Given the description of an element on the screen output the (x, y) to click on. 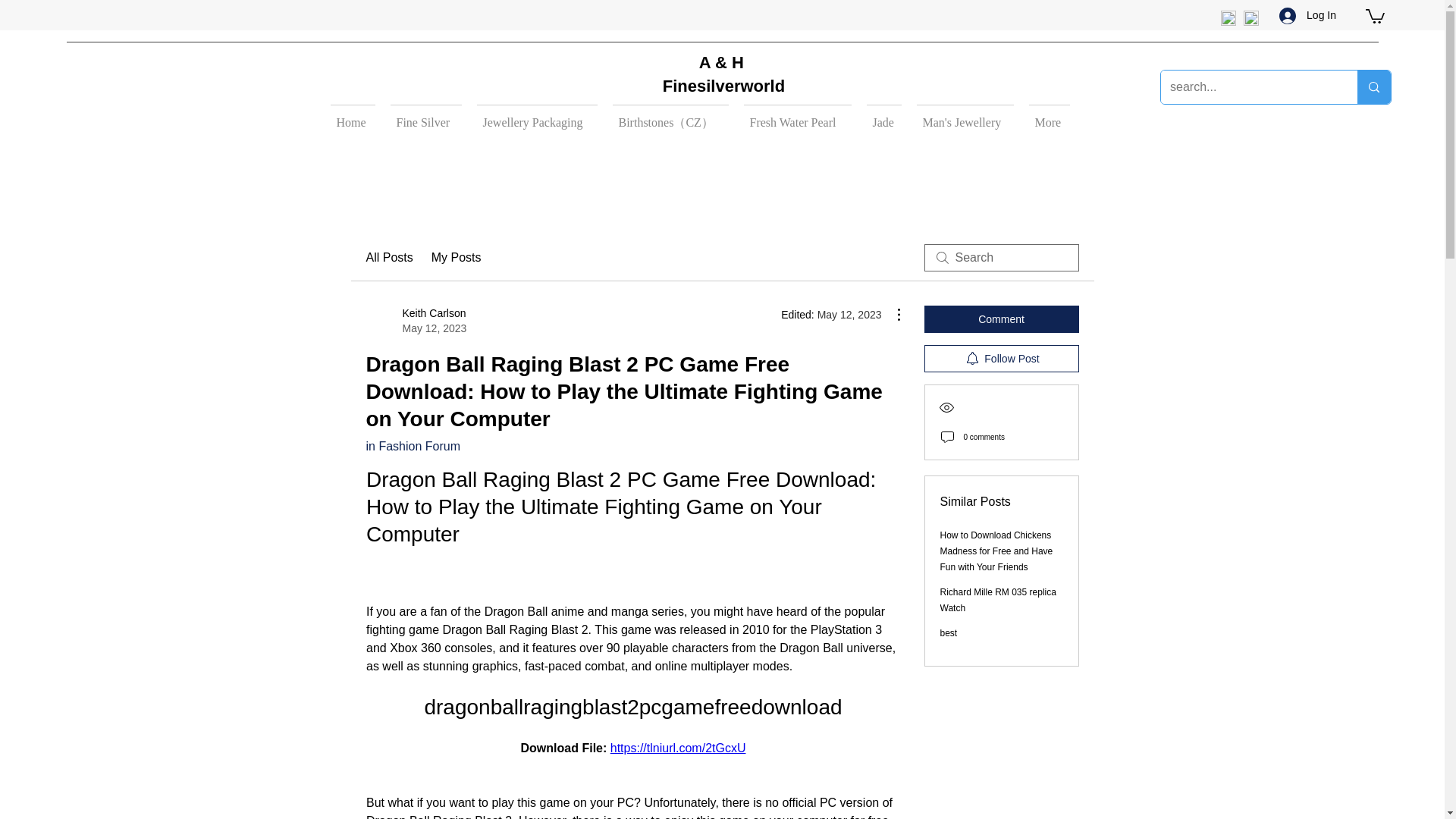
All Posts (388, 257)
in Fashion Forum (412, 445)
Jewellery Packaging (536, 115)
Log In (1307, 15)
Home (352, 115)
Jade (415, 320)
Fresh Water Pearl (883, 115)
My Posts (797, 115)
Fine Silver (455, 257)
Man's Jewellery (424, 115)
